Given the description of an element on the screen output the (x, y) to click on. 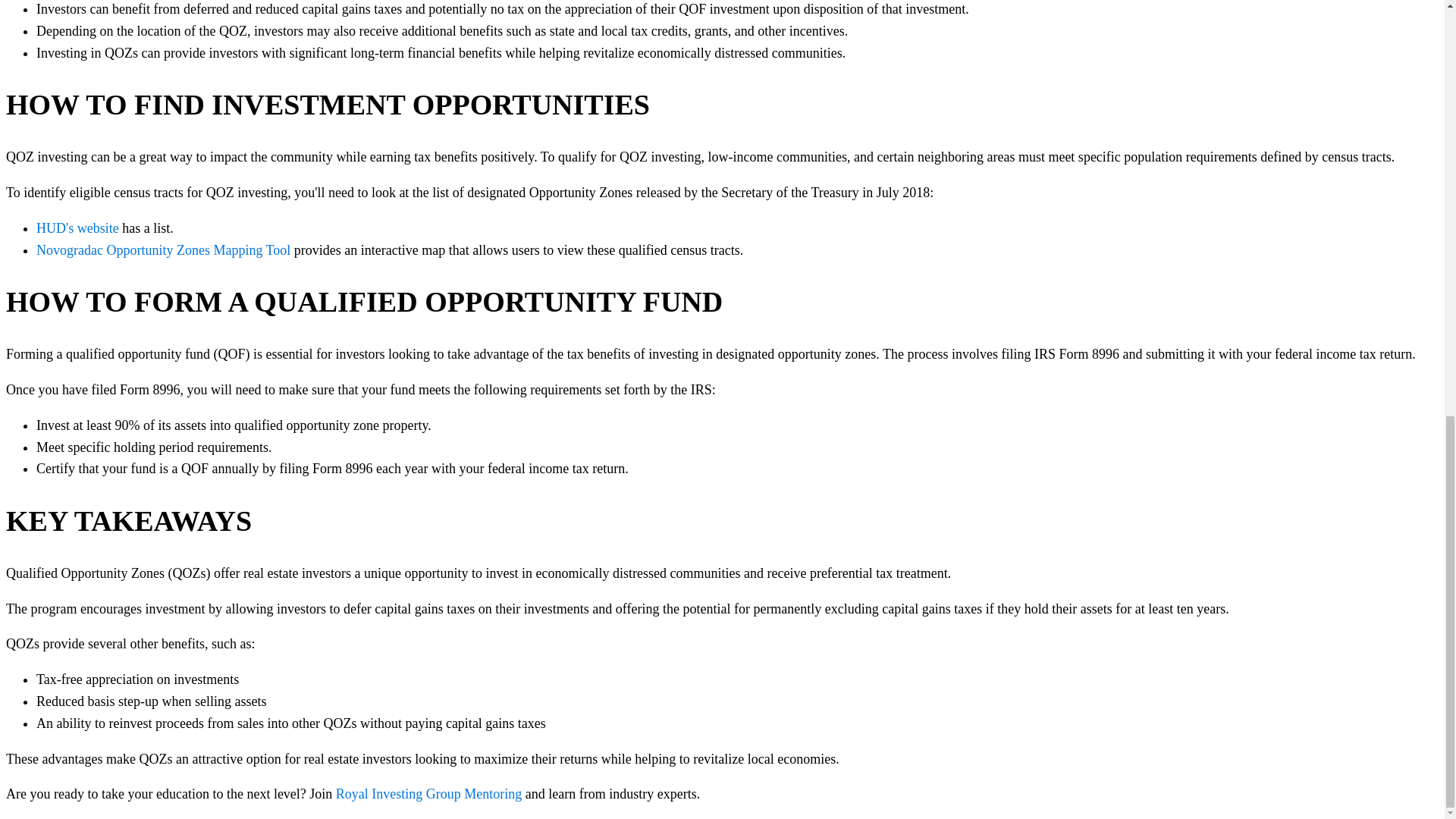
Royal Investing Group Mentoring (428, 793)
HUD's website (77, 227)
Novogradac Opportunity Zones Mapping Tool (162, 249)
